Given the description of an element on the screen output the (x, y) to click on. 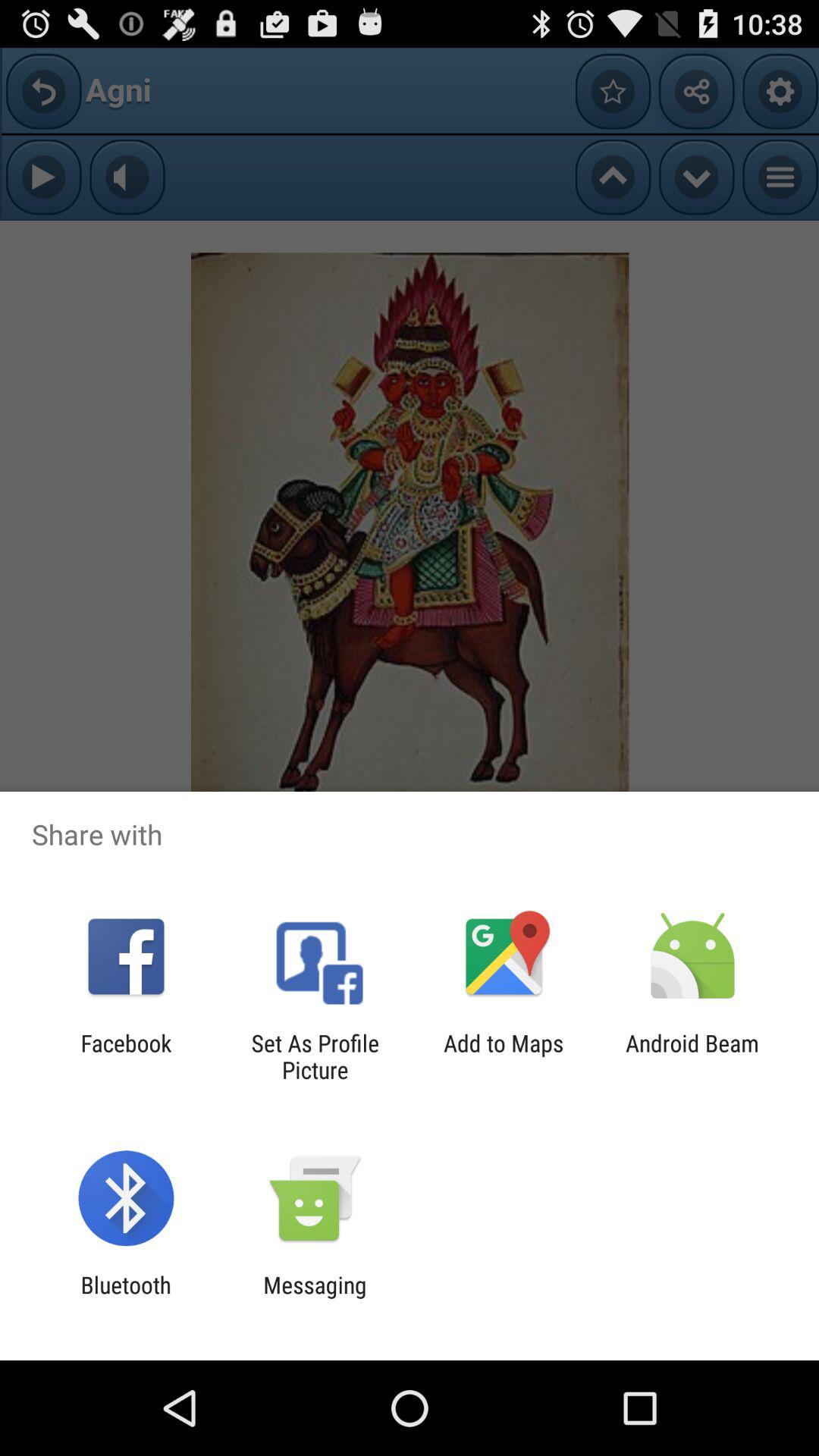
turn on the app to the left of android beam (503, 1056)
